Given the description of an element on the screen output the (x, y) to click on. 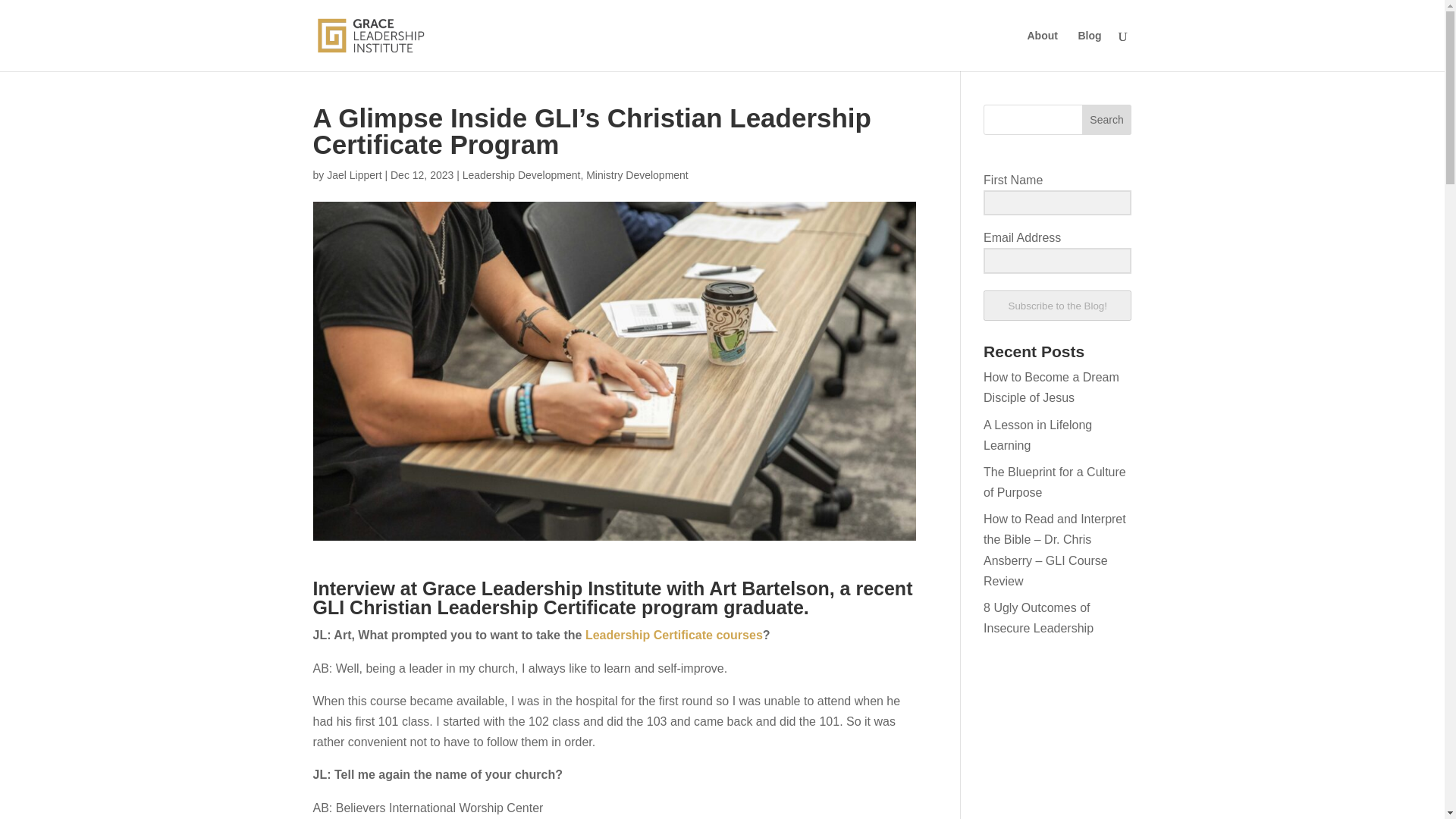
Ministry Development (637, 174)
A Lesson in Lifelong Learning (1038, 435)
Leadership Development (521, 174)
Posts by Jael Lippert (353, 174)
The Blueprint for a Culture of Purpose (1054, 482)
Jael Lippert (353, 174)
How to Become a Dream Disciple of Jesus (1051, 387)
Search (1106, 119)
8 Ugly Outcomes of Insecure Leadership (1038, 617)
Search (1106, 119)
